Given the description of an element on the screen output the (x, y) to click on. 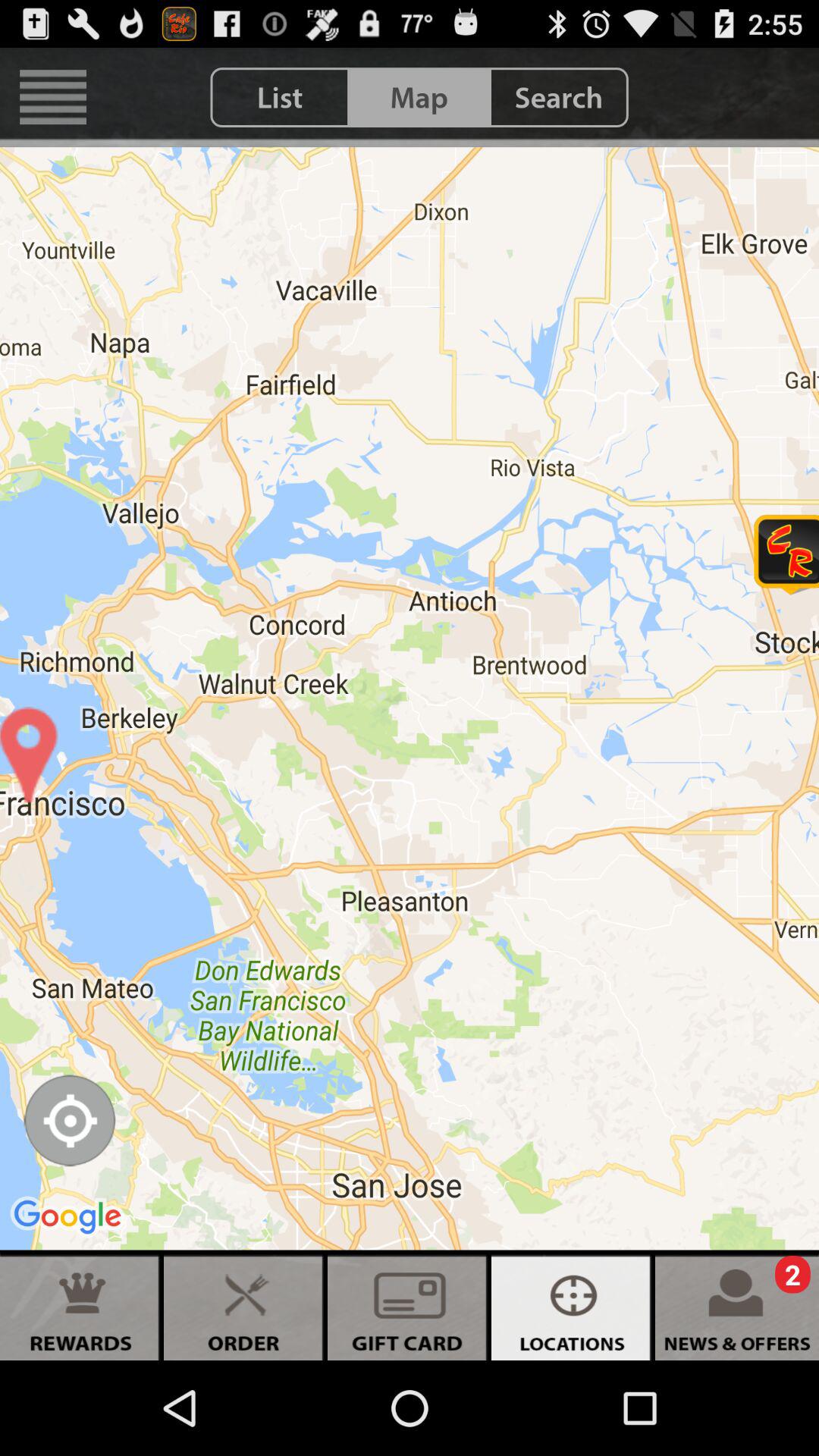
turn on the icon at the top left corner (53, 96)
